Given the description of an element on the screen output the (x, y) to click on. 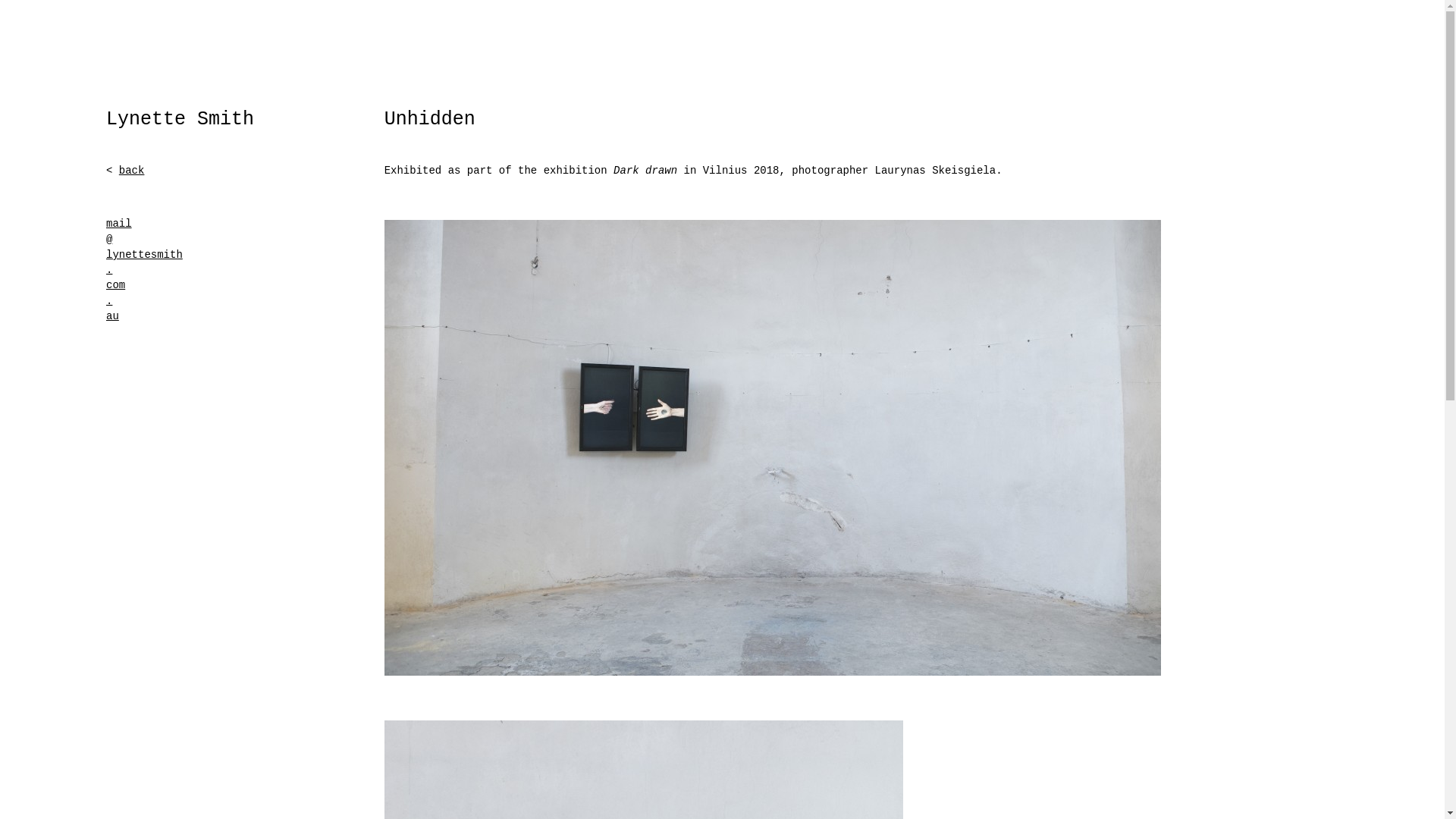
back Element type: text (131, 170)
Lynette Smith Element type: text (180, 119)
mail
@
lynettesmith
.
com
.
au Element type: text (144, 269)
